Given the description of an element on the screen output the (x, y) to click on. 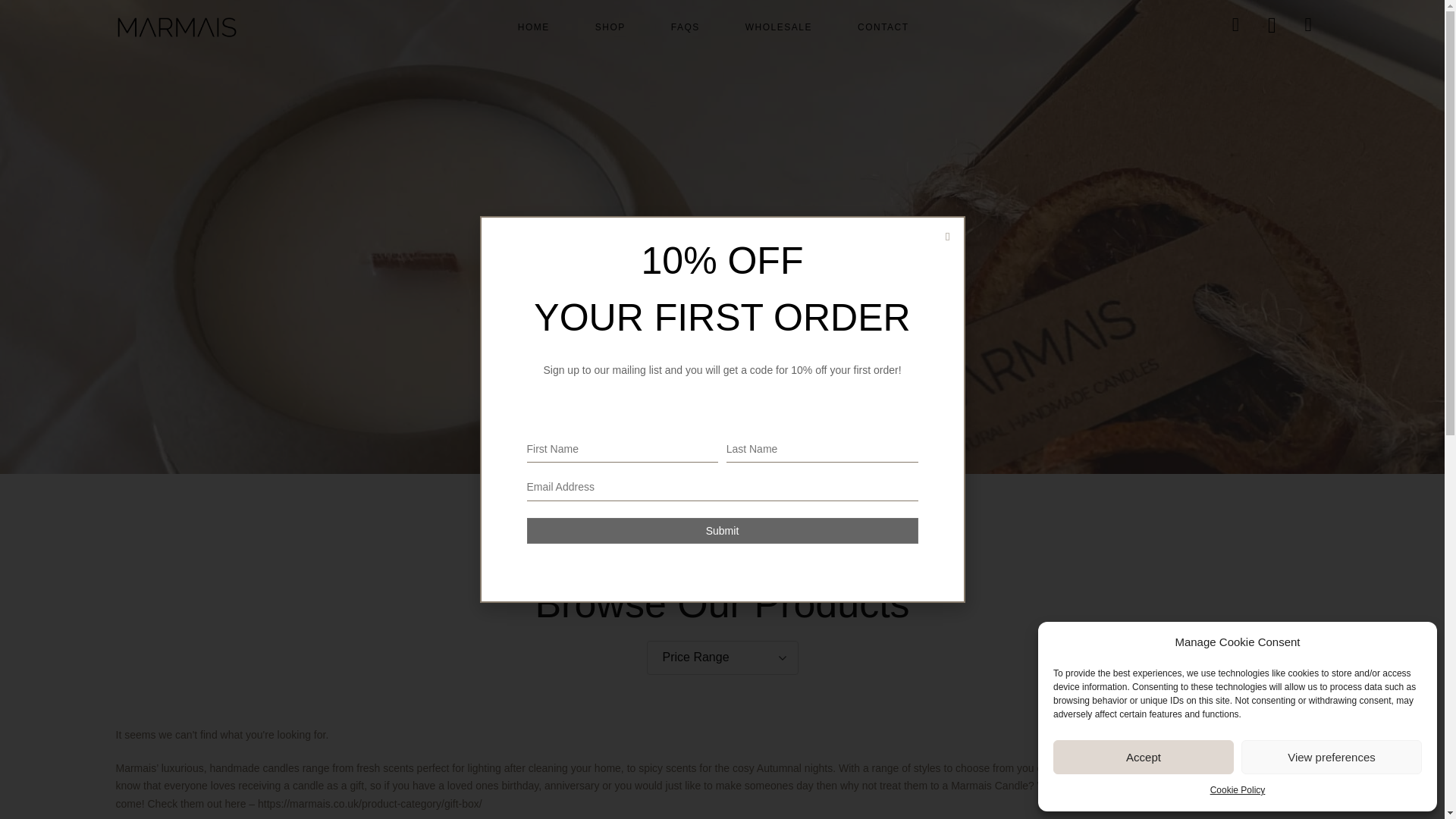
View preferences (1331, 756)
Submit (721, 529)
Accept (1142, 756)
WHOLESALE (778, 27)
FAQS (684, 27)
HOME (533, 27)
Cookie Policy (1237, 791)
SHOP (609, 27)
CONTACT (882, 27)
HOME (644, 286)
